Given the description of an element on the screen output the (x, y) to click on. 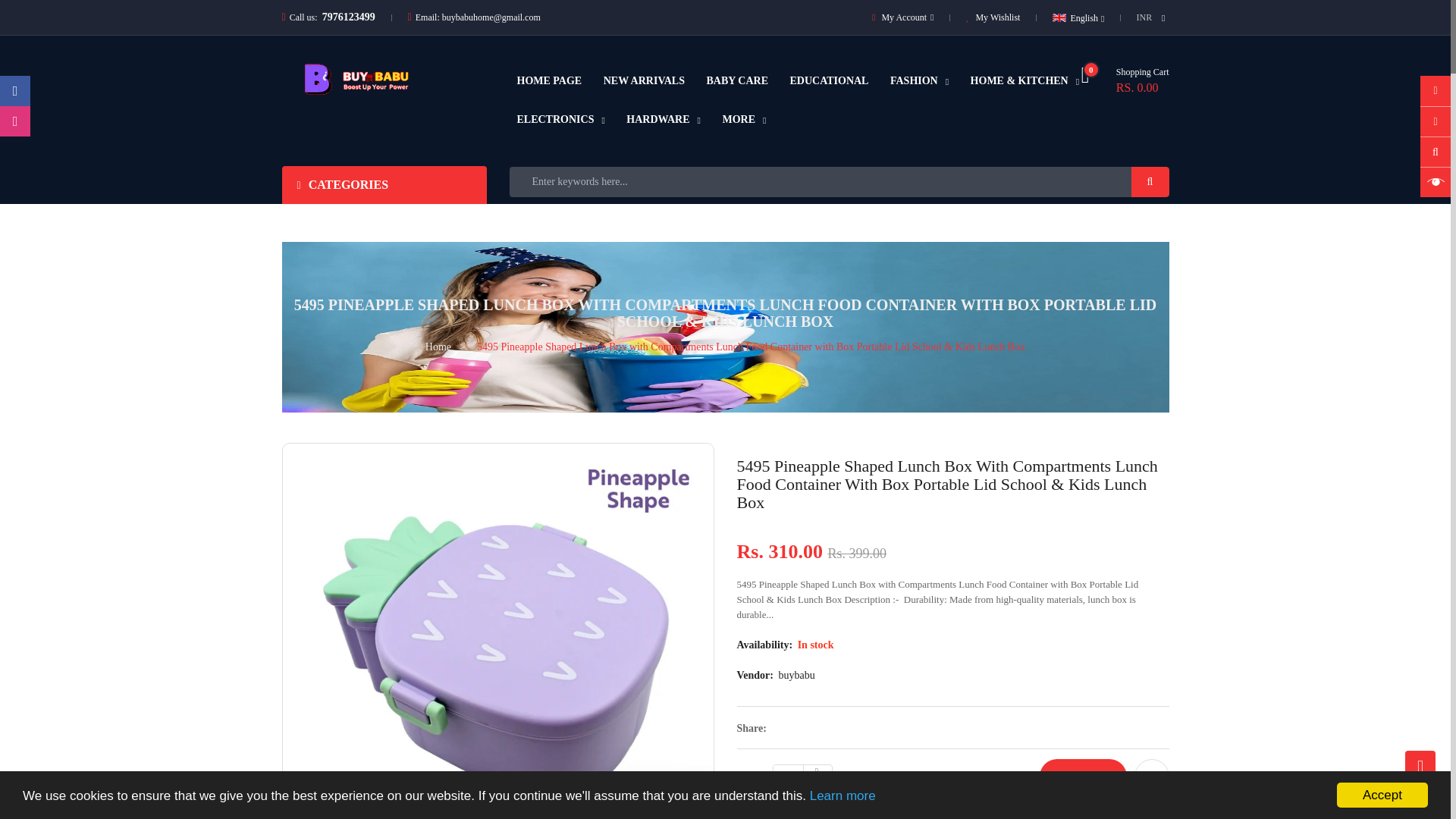
HOME PAGE (549, 80)
My Wishlist (993, 17)
English (663, 119)
EDUCATIONAL (919, 81)
My Account (1077, 18)
NEW ARRIVALS (743, 119)
1 (828, 80)
BABY CARE (560, 119)
